Given the description of an element on the screen output the (x, y) to click on. 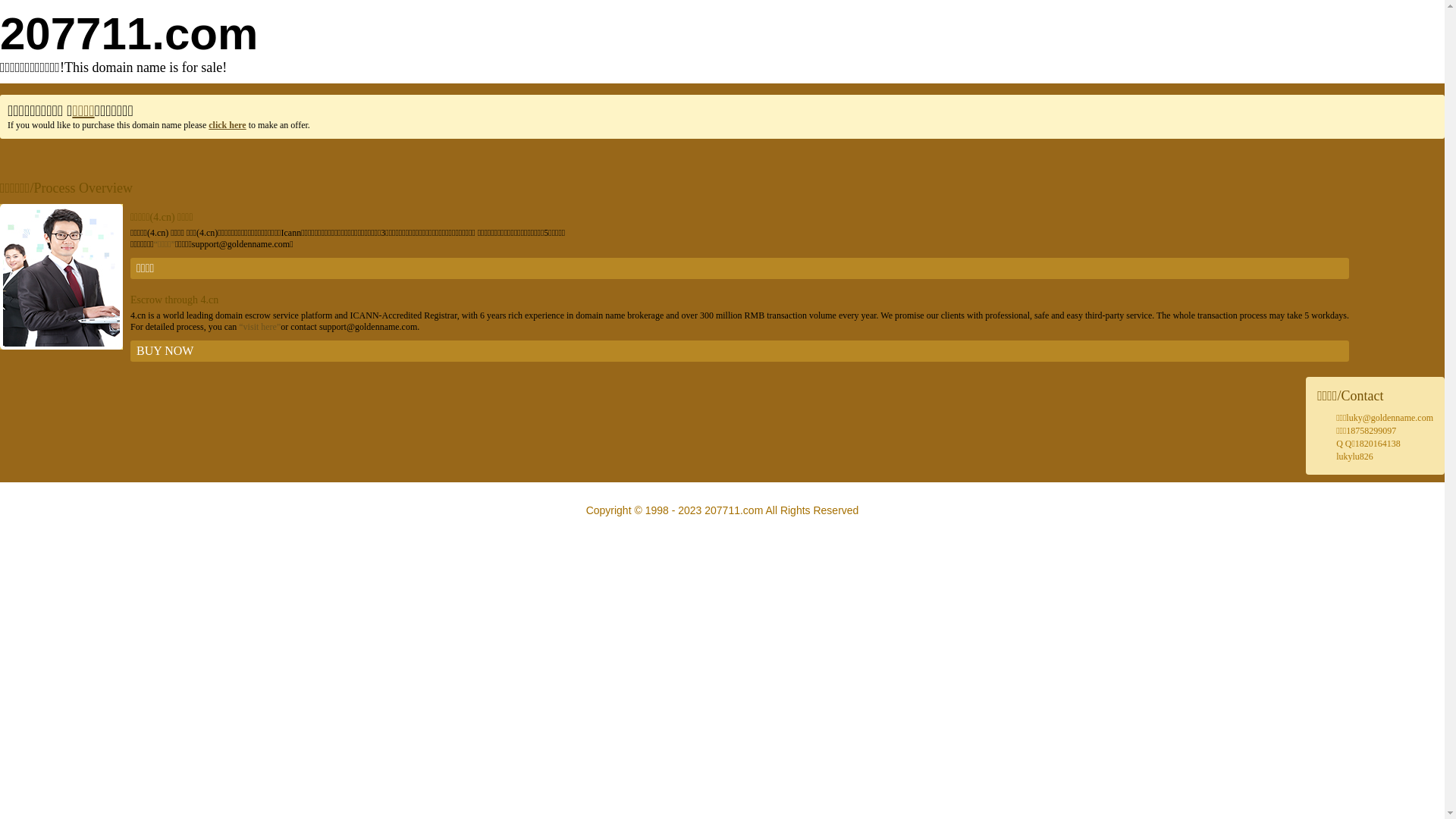
click here Element type: text (226, 124)
BUY NOW Element type: text (739, 350)
